Given the description of an element on the screen output the (x, y) to click on. 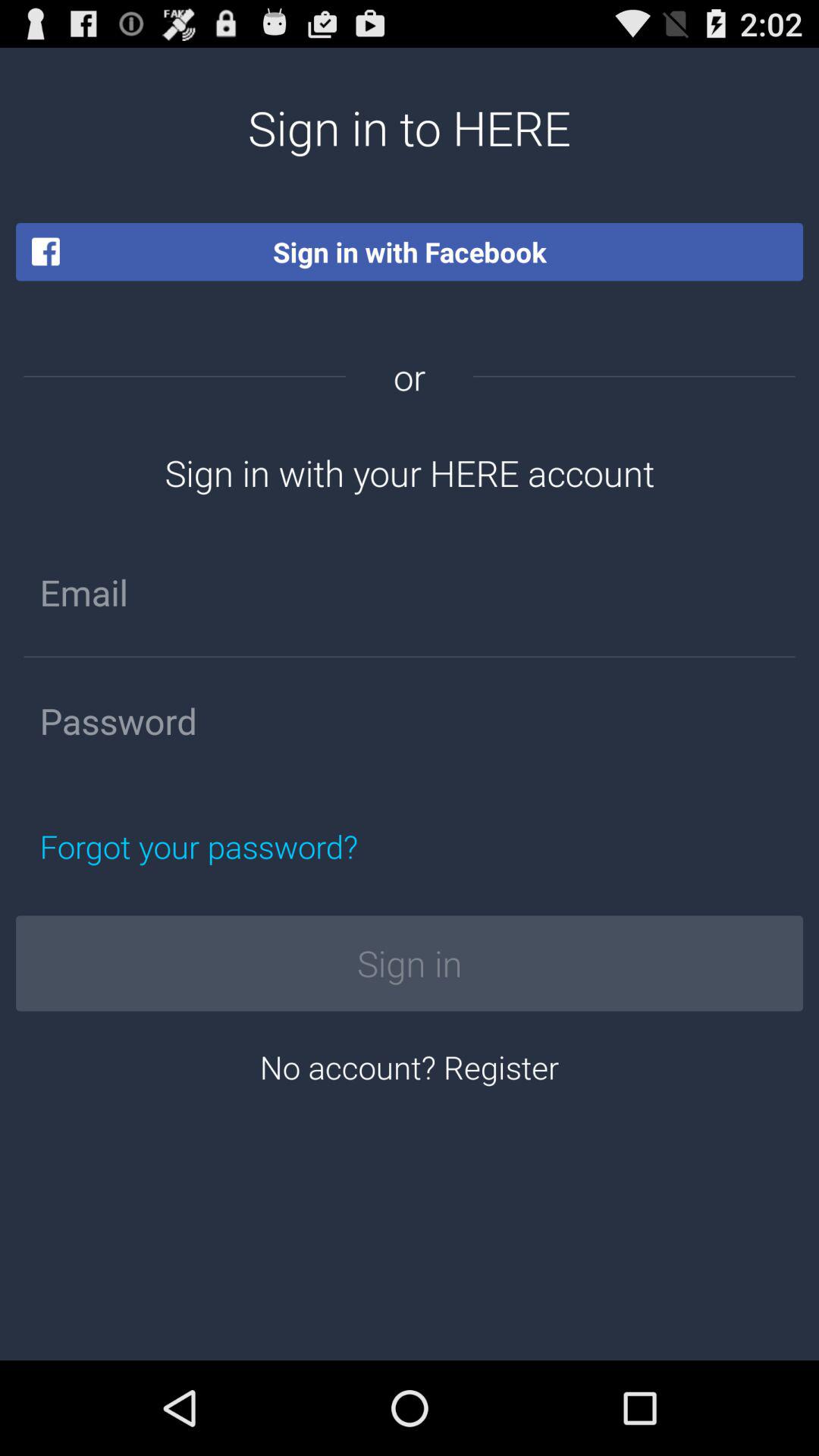
input email address (409, 592)
